Given the description of an element on the screen output the (x, y) to click on. 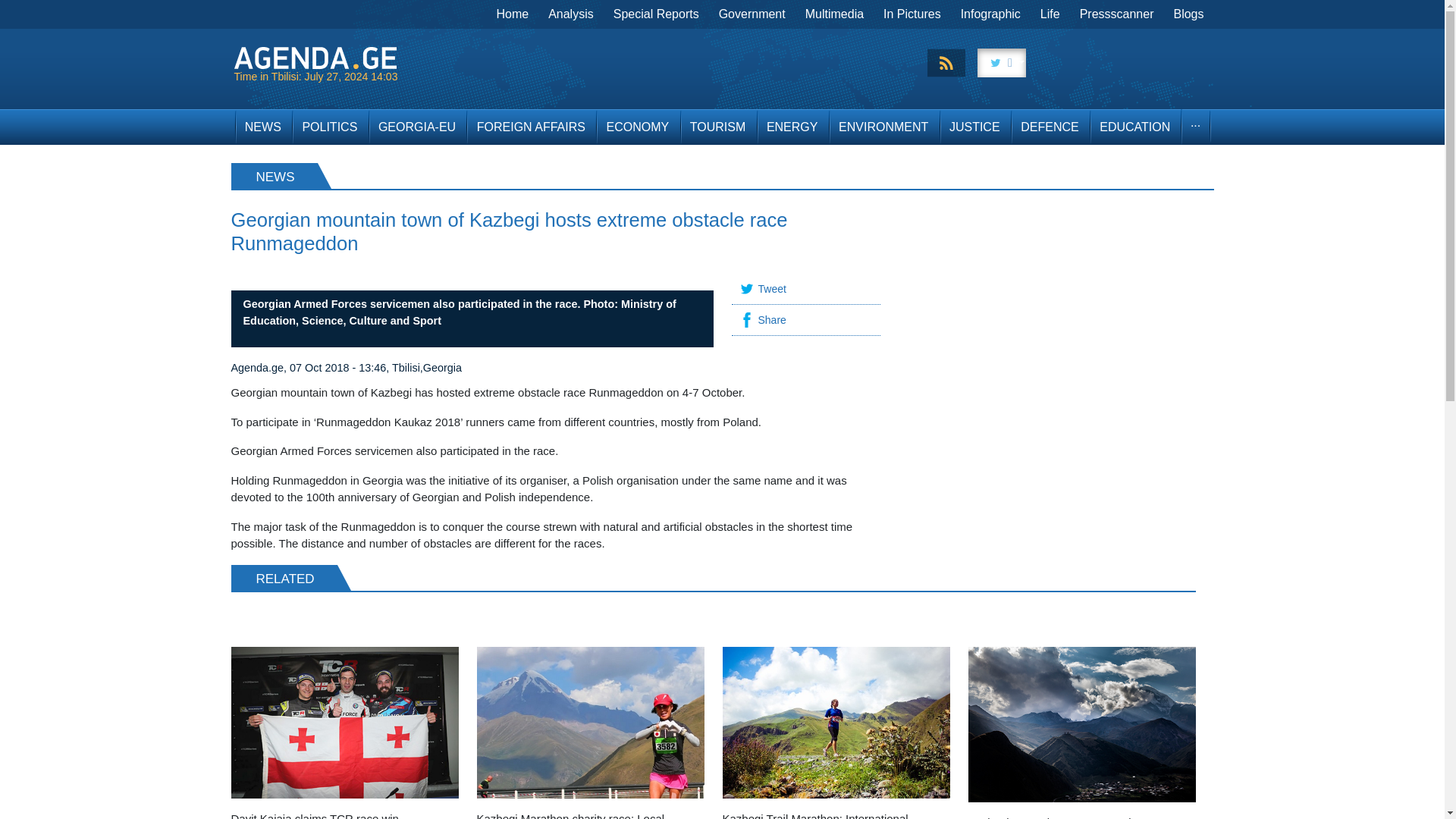
Pressscanner (1116, 14)
NEWS (262, 126)
Special Reports (656, 14)
Multimedia (833, 14)
Life (1050, 14)
Blogs (1187, 14)
Home (512, 14)
In Pictures (911, 14)
Analysis (571, 14)
Infographic (990, 14)
Government (751, 14)
